Given the description of an element on the screen output the (x, y) to click on. 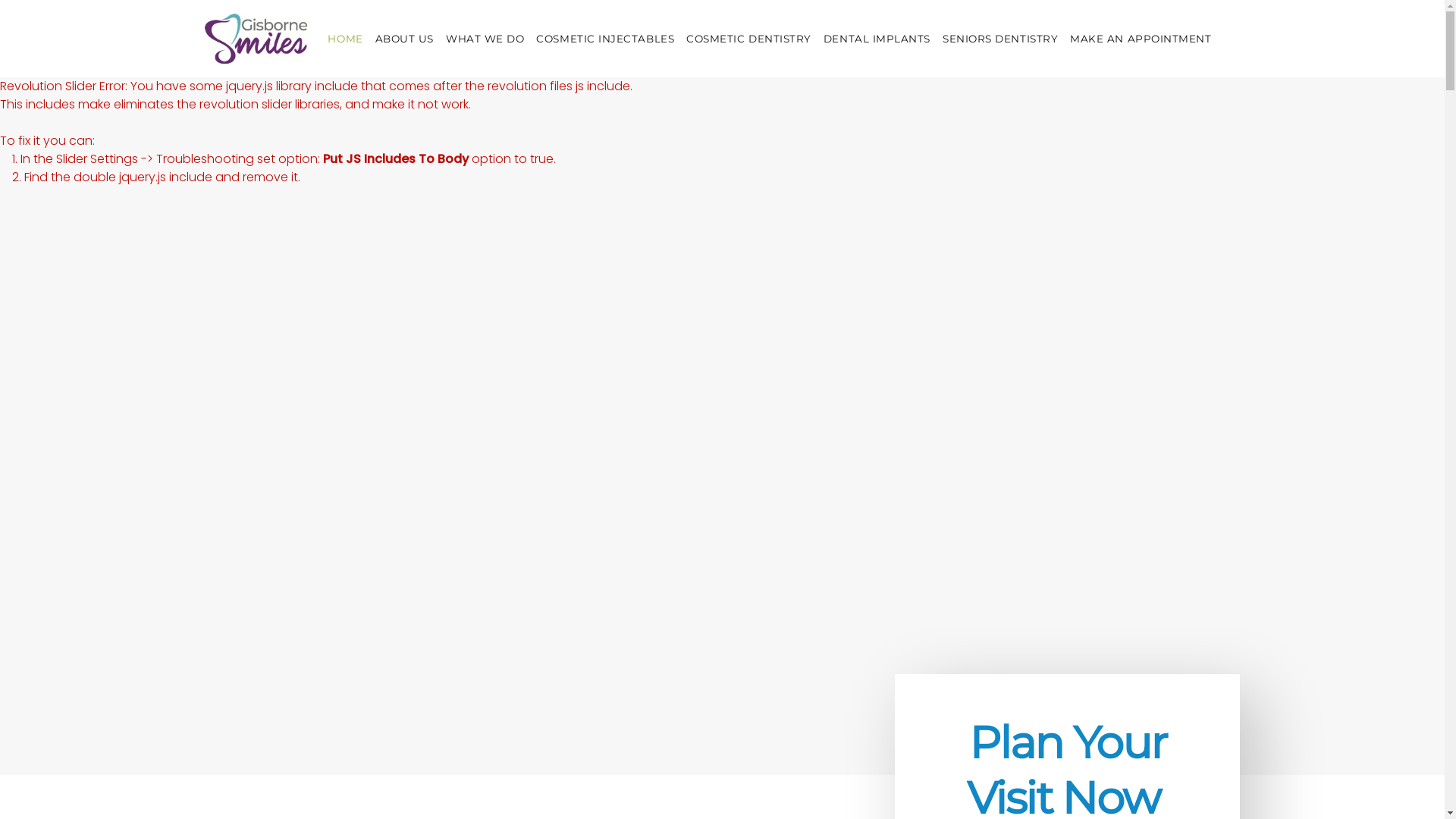
DENTAL IMPLANTS Element type: text (876, 38)
COSMETIC INJECTABLES Element type: text (605, 38)
COSMETIC DENTISTRY Element type: text (748, 38)
HOME Element type: text (344, 38)
MAKE AN APPOINTMENT Element type: text (1140, 38)
SENIORS DENTISTRY Element type: text (999, 38)
WHAT WE DO Element type: text (484, 38)
ABOUT US Element type: text (404, 38)
